Given the description of an element on the screen output the (x, y) to click on. 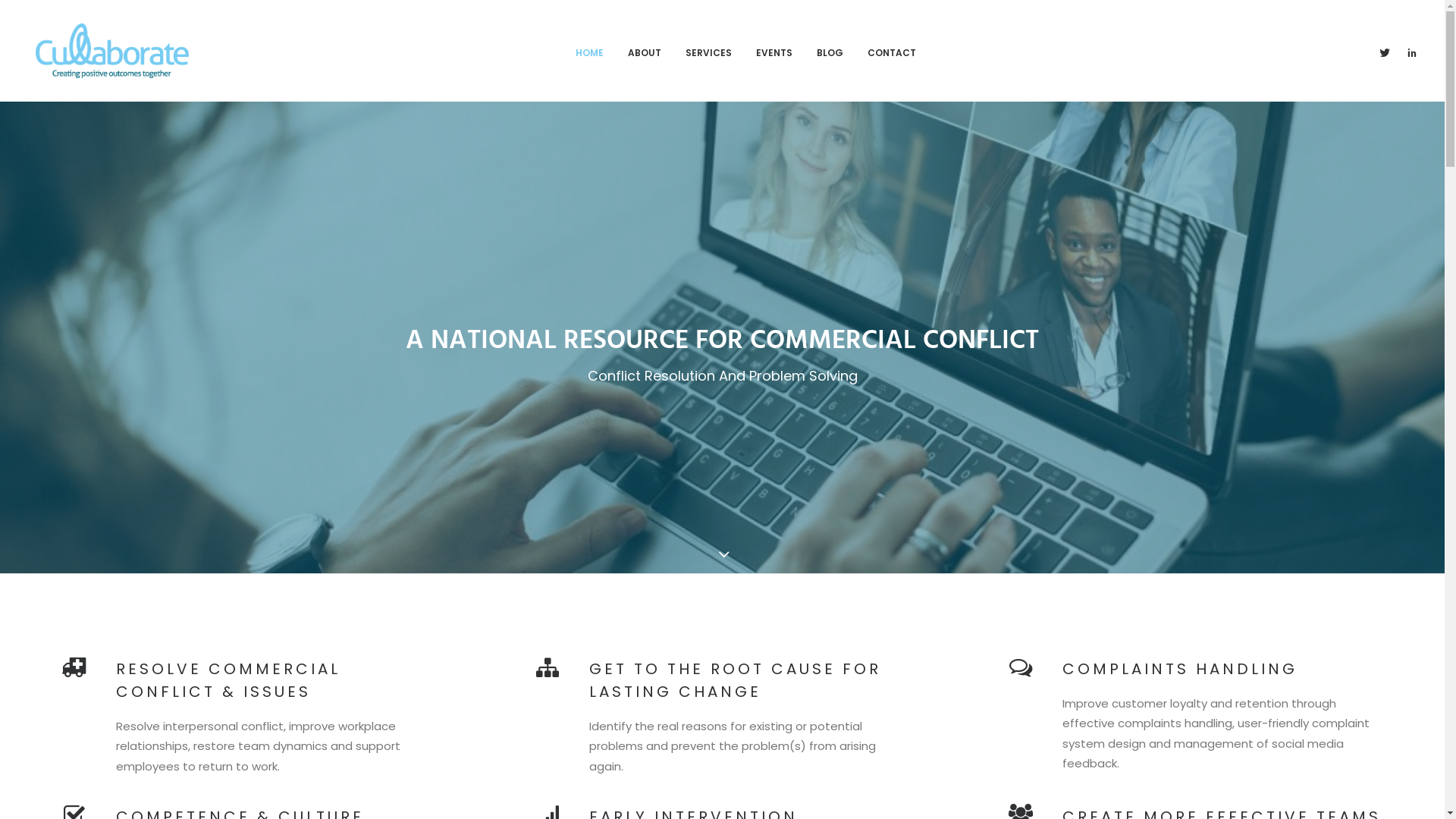
HOME Element type: text (589, 50)
ABOUT Element type: text (644, 50)
SERVICES Element type: text (708, 50)
CONTACT Element type: text (891, 50)
BLOG Element type: text (829, 50)
EVENTS Element type: text (774, 50)
